Given the description of an element on the screen output the (x, y) to click on. 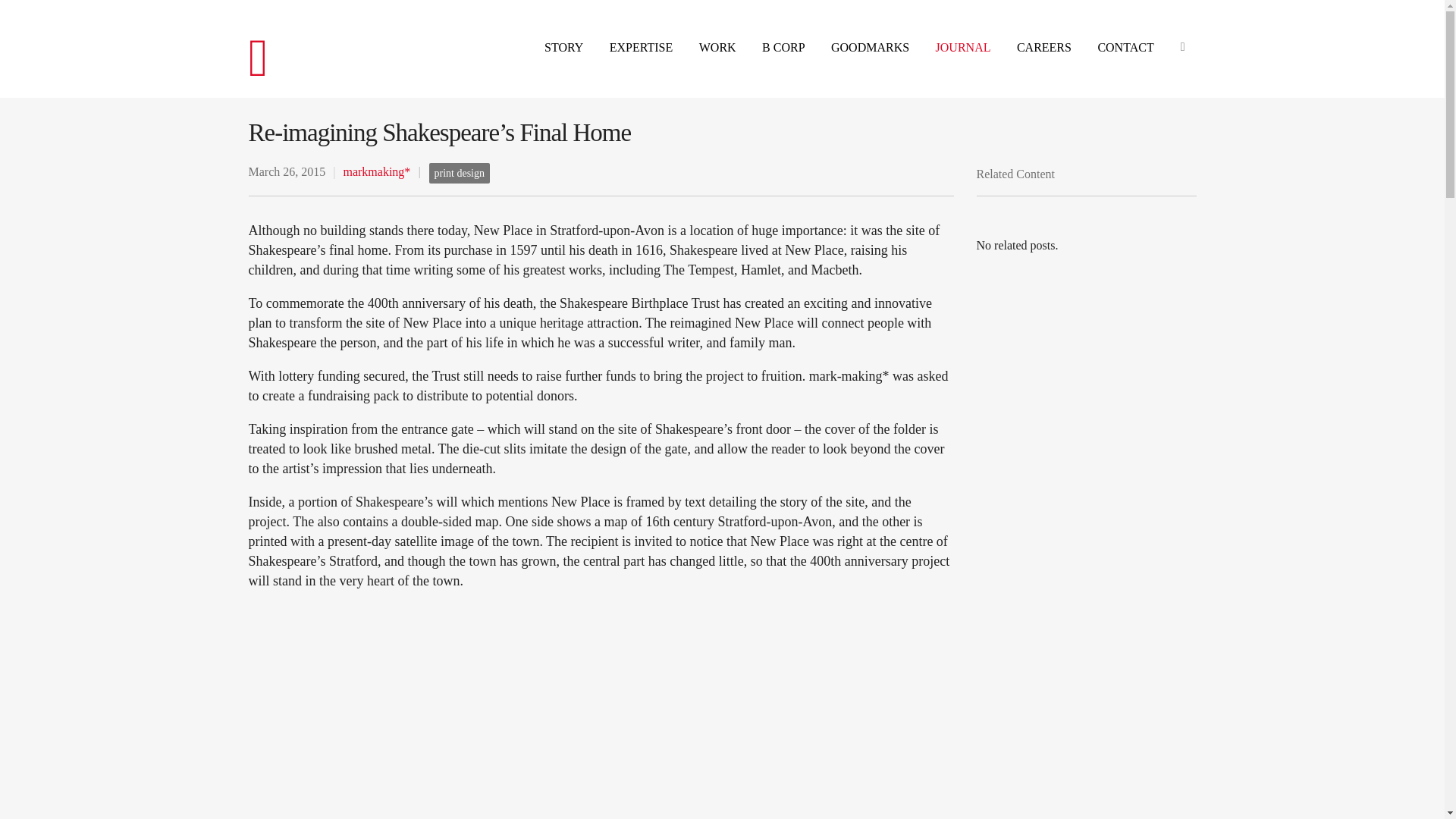
WORK (717, 47)
JOURNAL (963, 47)
CONTACT (1125, 47)
print design (459, 172)
STORY (563, 47)
EXPERTISE (641, 47)
GOODMARKS (869, 47)
Engage search function (1181, 28)
CAREERS (1043, 47)
B CORP (783, 47)
